Given the description of an element on the screen output the (x, y) to click on. 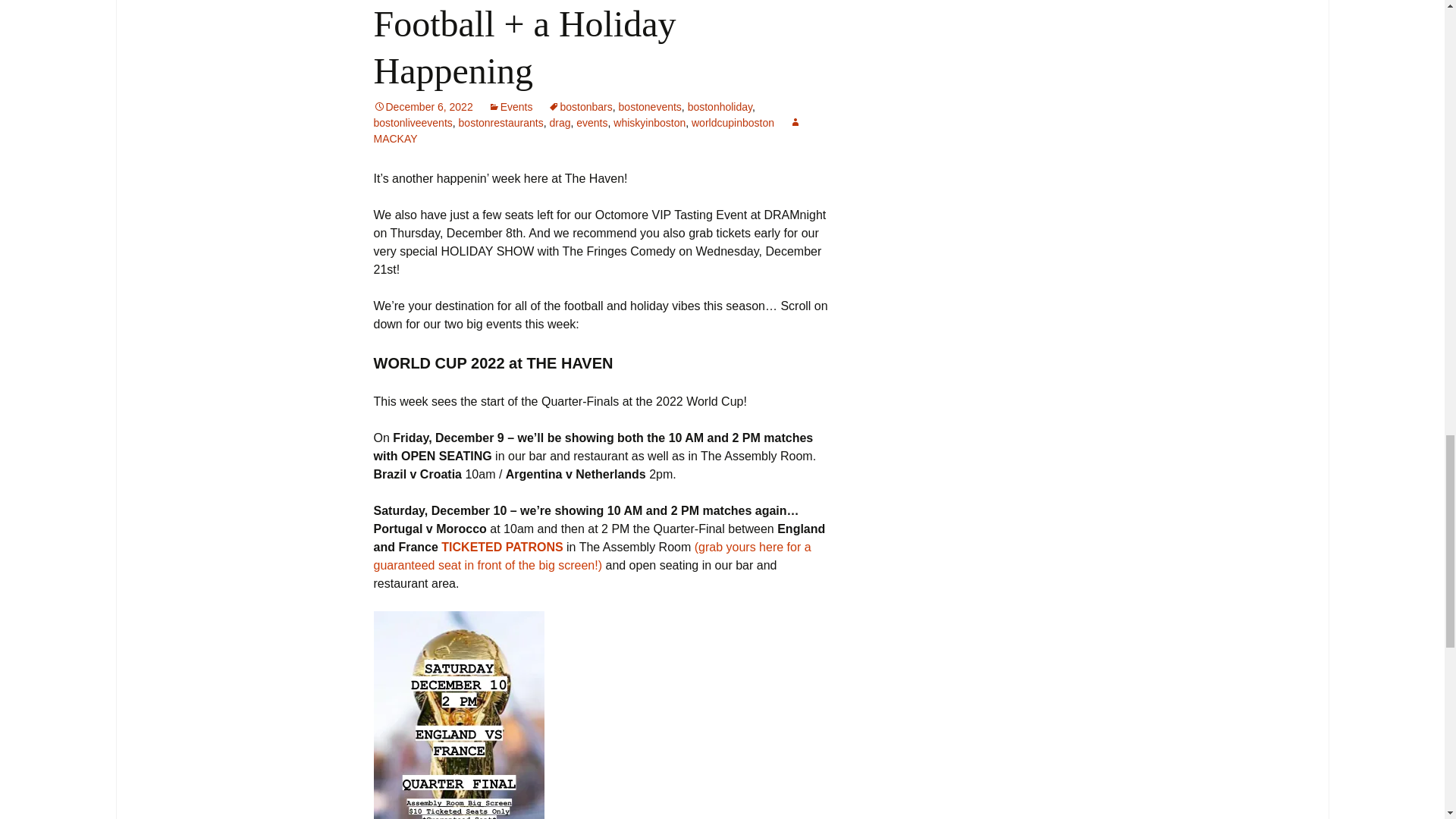
Events (509, 106)
bostonbars (579, 106)
bostonevents (649, 106)
bostonholiday (719, 106)
drag (559, 122)
worldcupinboston (732, 122)
bostonliveevents (411, 122)
events (591, 122)
MACKAY (586, 130)
December 6, 2022 (421, 106)
